Given the description of an element on the screen output the (x, y) to click on. 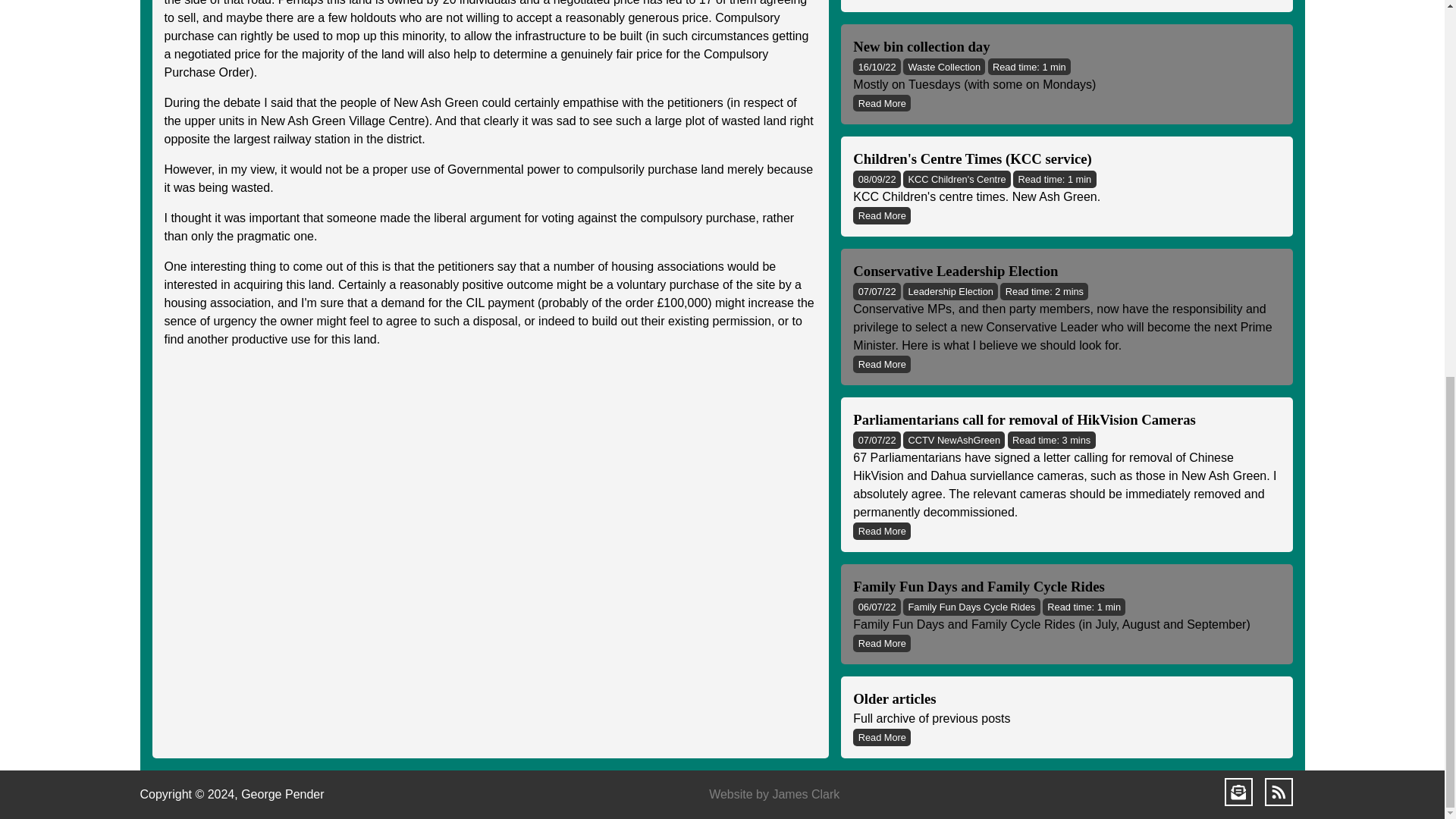
Website by James Clark (1066, 715)
